Given the description of an element on the screen output the (x, y) to click on. 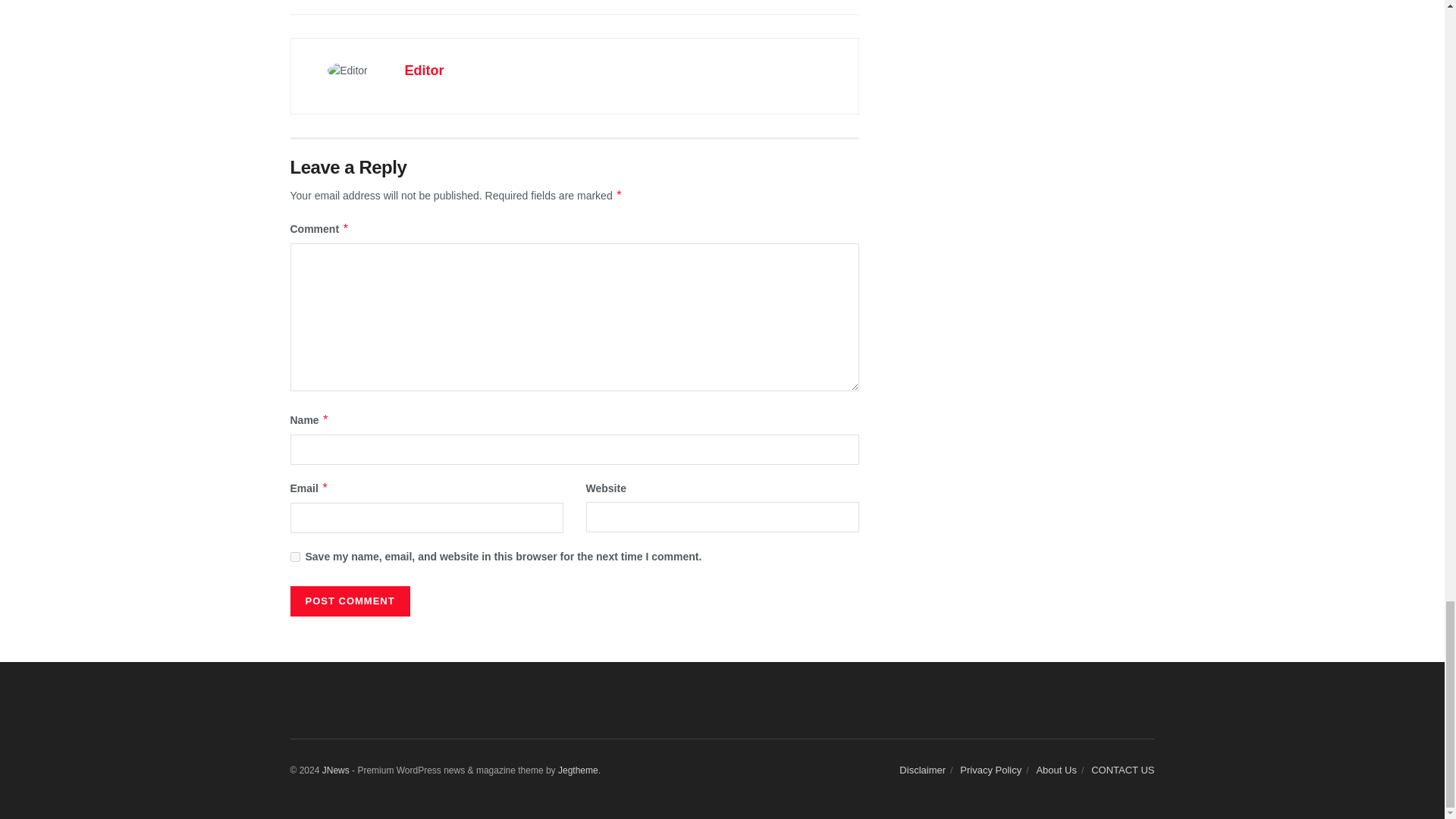
Post Comment (349, 601)
Jegtheme (577, 769)
yes (294, 556)
